Given the description of an element on the screen output the (x, y) to click on. 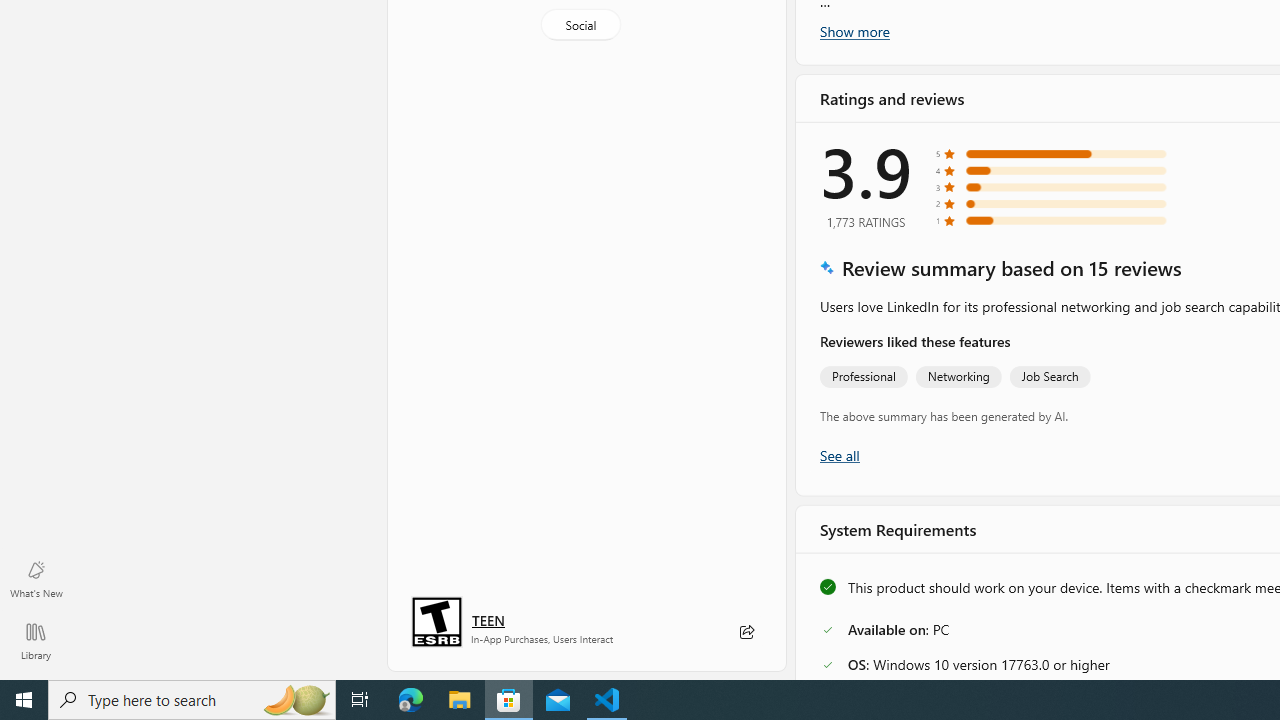
Age rating: TEEN. Click for more information. (488, 619)
Share (746, 632)
Show more (854, 31)
Social (579, 23)
Show all ratings and reviews (838, 454)
